Given the description of an element on the screen output the (x, y) to click on. 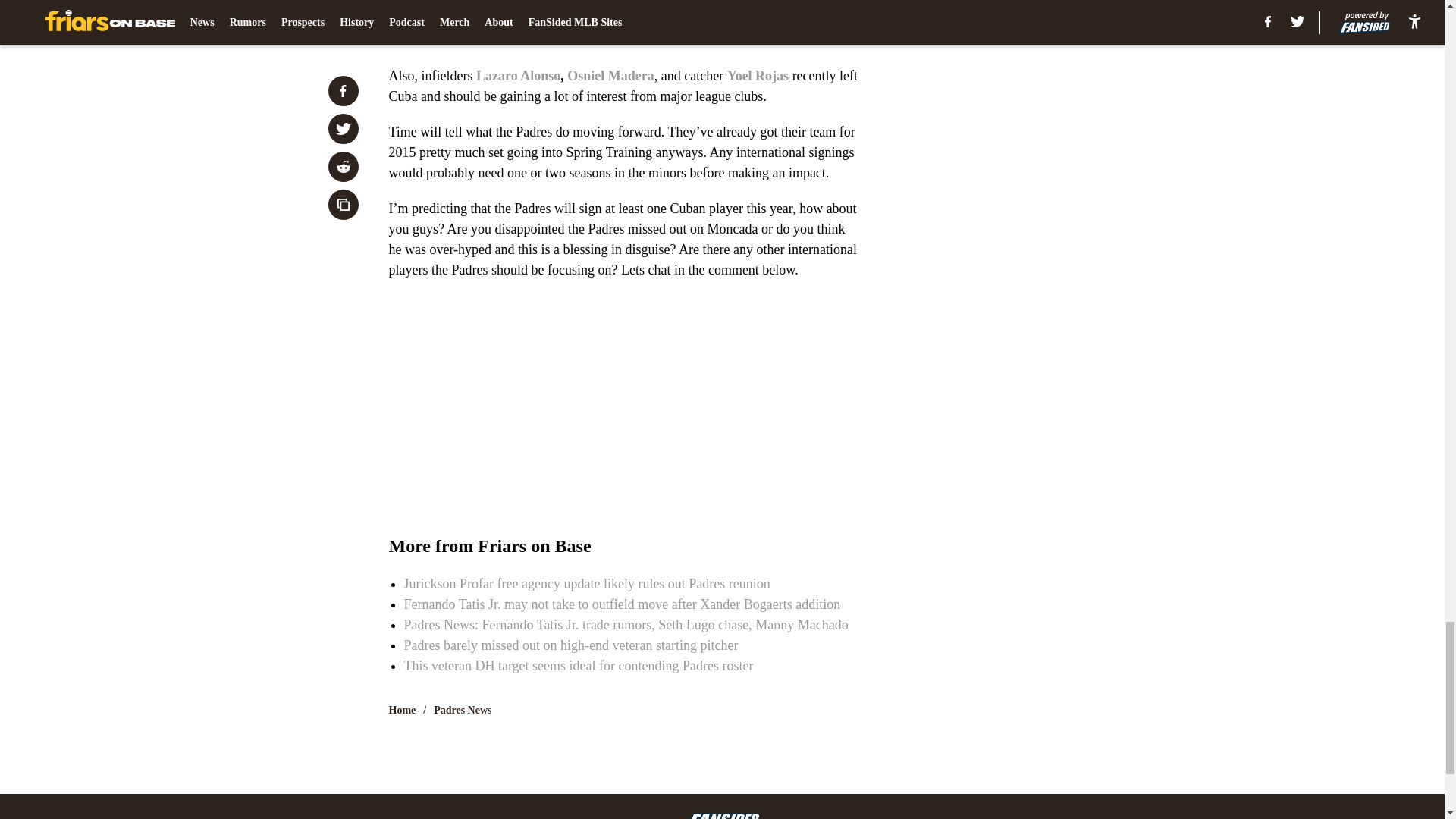
Osniel Madera (610, 75)
Padres News (462, 710)
Lazaro Alonso (518, 75)
Yoel Rojas (757, 75)
Home (401, 710)
